Given the description of an element on the screen output the (x, y) to click on. 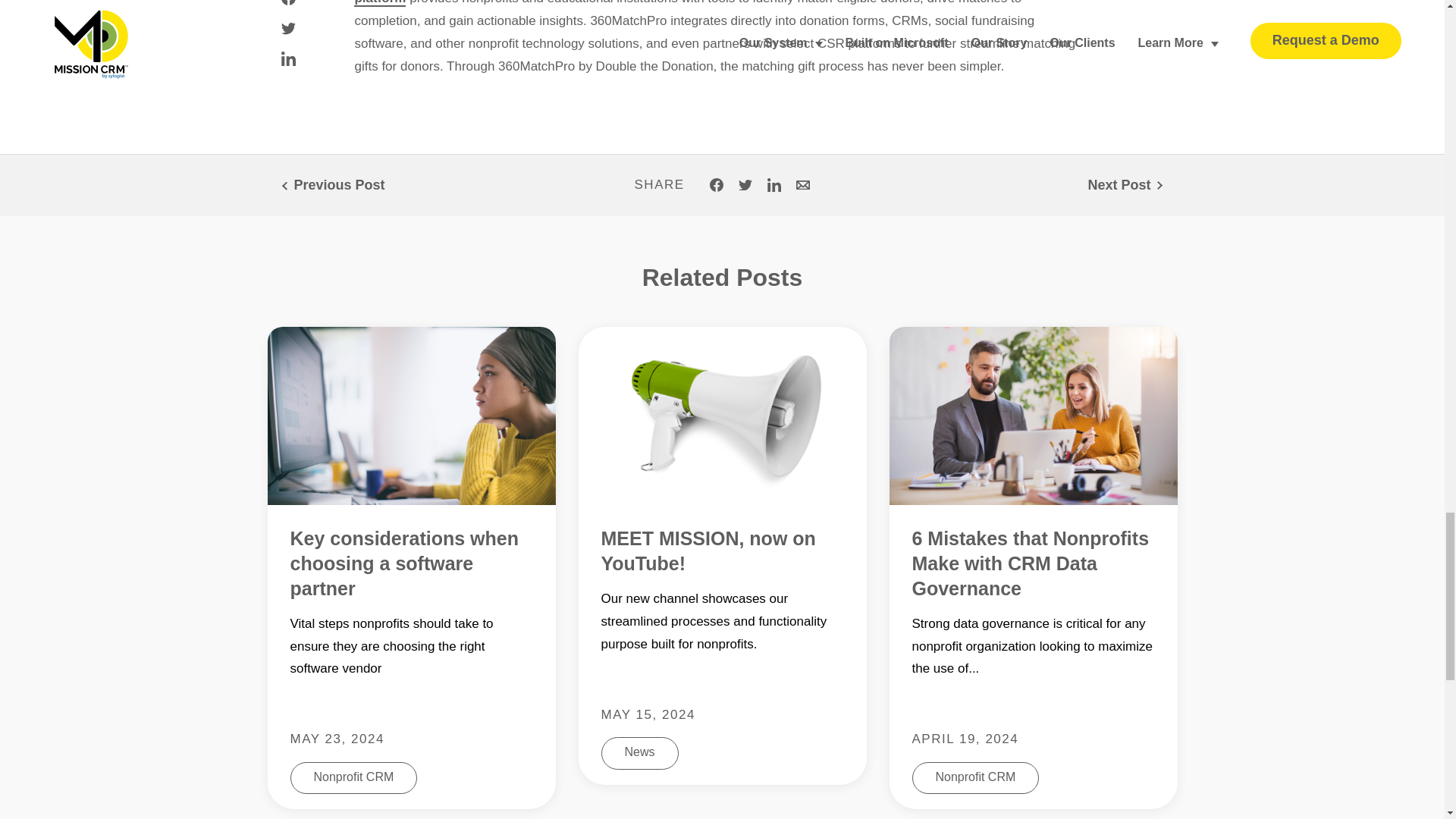
Top 7 Best CRMs for Nonprofit Organizations (1126, 185)
